Given the description of an element on the screen output the (x, y) to click on. 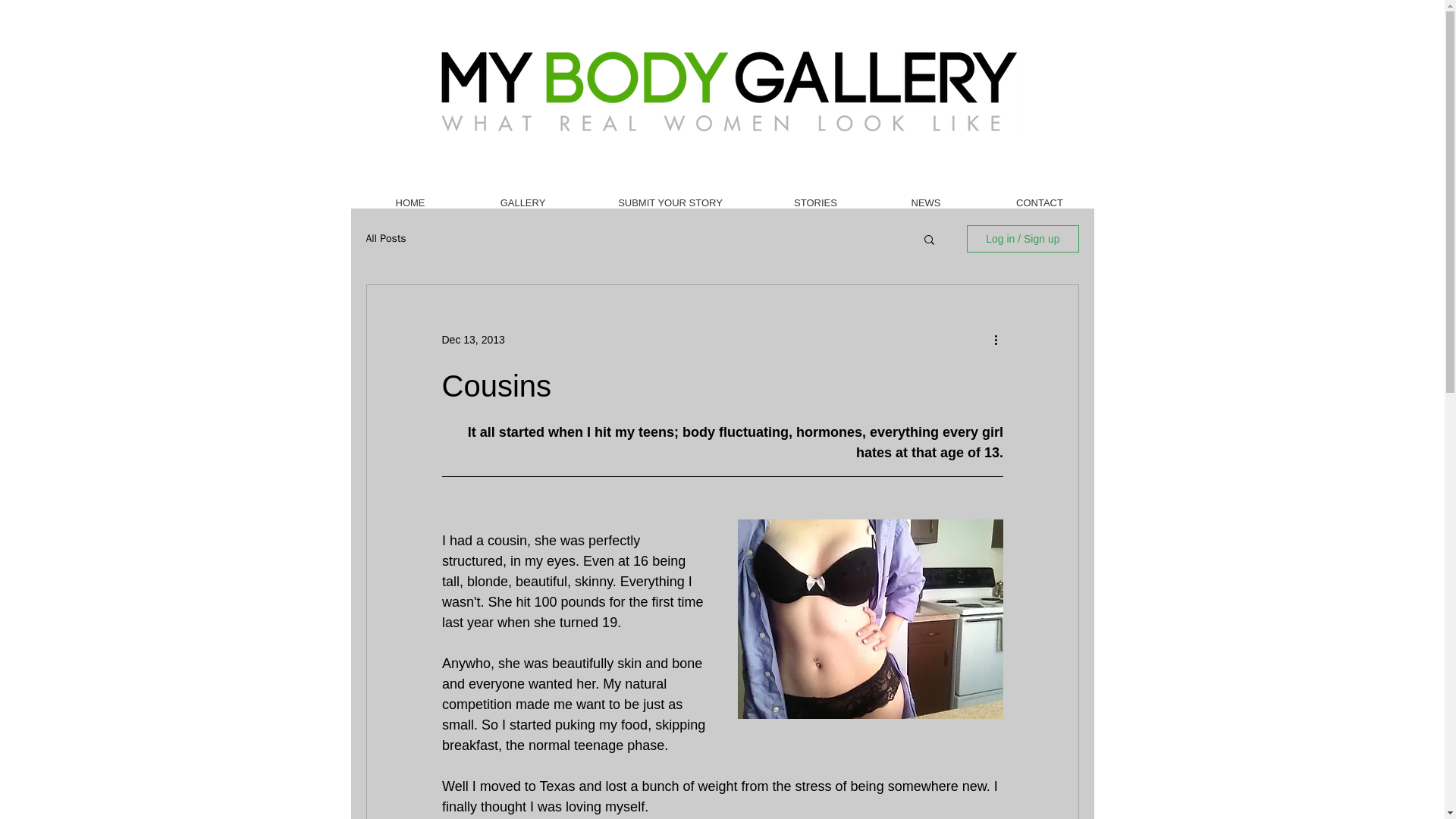
All Posts (385, 238)
NEWS (925, 202)
SUBMIT YOUR STORY (669, 202)
CONTACT (1039, 202)
Dec 13, 2013 (472, 339)
GALLERY (522, 202)
STORIES (815, 202)
HOME (410, 202)
